Given the description of an element on the screen output the (x, y) to click on. 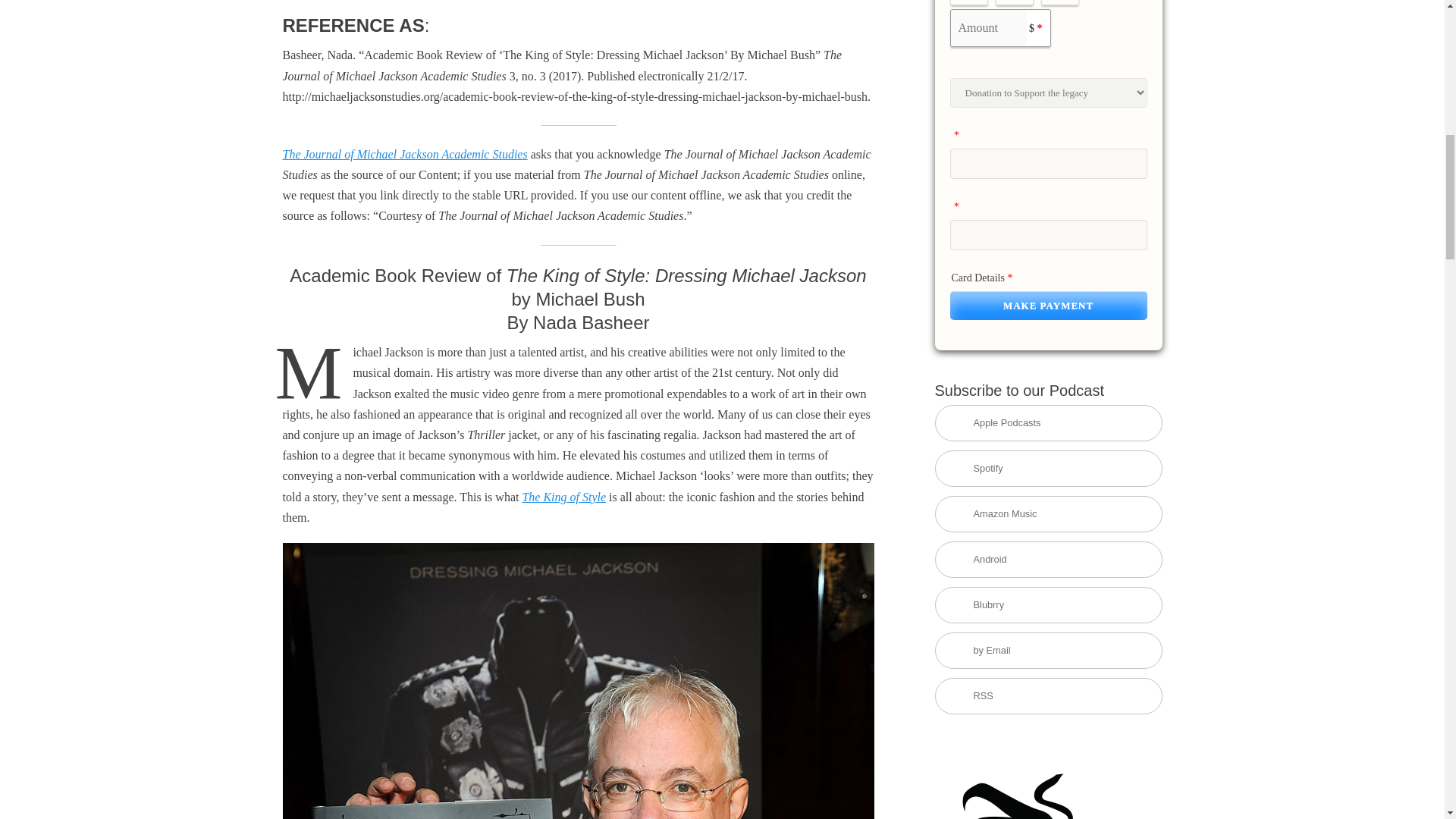
Subscribe on Amazon Music (1047, 514)
Subscribe on Apple Podcasts (1047, 422)
Subscribe on Android (1047, 559)
Make Payment (1048, 305)
Subscribe by Email (1047, 650)
Subscribe via RSS (1047, 696)
Subscribe on Spotify (1047, 468)
Subscribe on Blubrry (1047, 605)
The Journal of Michael Jackson Academic Studies (404, 154)
The King of Style (563, 496)
